Given the description of an element on the screen output the (x, y) to click on. 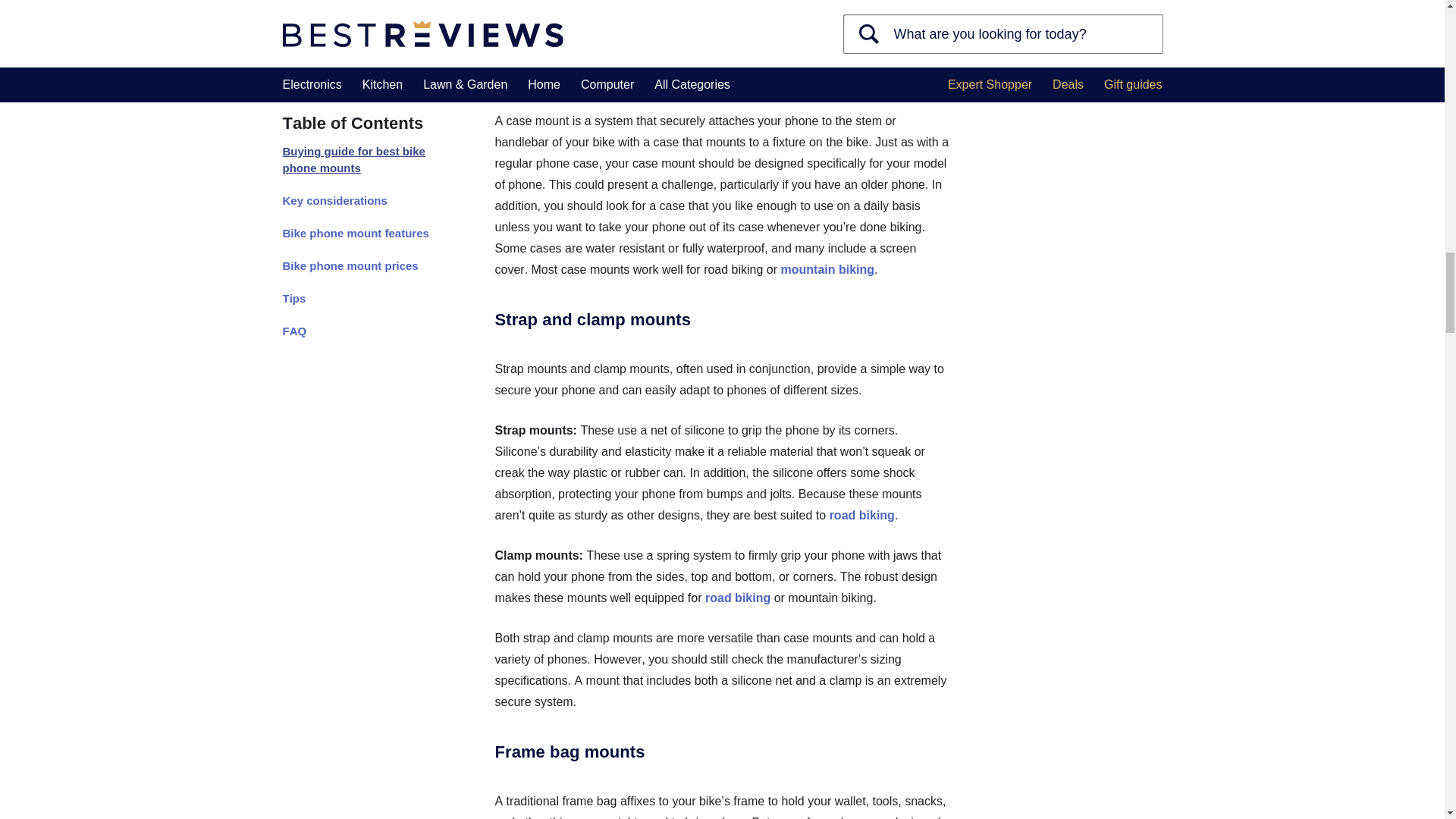
road biking (862, 514)
mountain biking (827, 269)
